Given the description of an element on the screen output the (x, y) to click on. 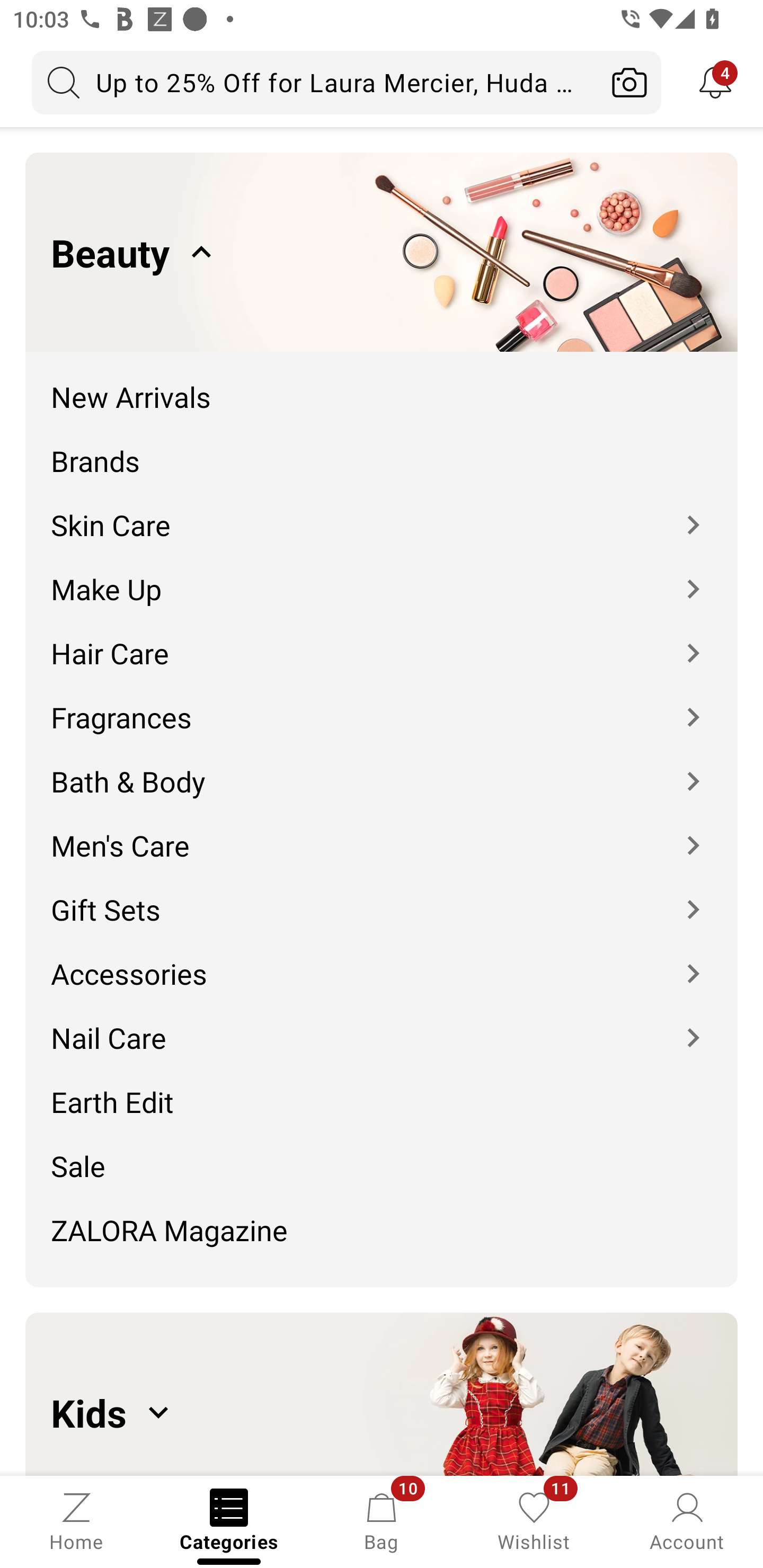
Beauty (381, 251)
New Arrivals (381, 383)
Brands (381, 447)
Skin Care (381, 511)
Make Up (381, 576)
Hair Care (381, 640)
Fragrances (381, 704)
Bath & Body (381, 767)
Men's Care (381, 831)
Gift Sets (381, 895)
Accessories (381, 960)
Nail Care (381, 1024)
Earth Edit (381, 1088)
Sale (381, 1153)
ZALORA Magazine (381, 1236)
Kids (381, 1393)
Home (76, 1519)
Bag, 10 new notifications Bag (381, 1519)
Wishlist, 11 new notifications Wishlist (533, 1519)
Account (686, 1519)
